Given the description of an element on the screen output the (x, y) to click on. 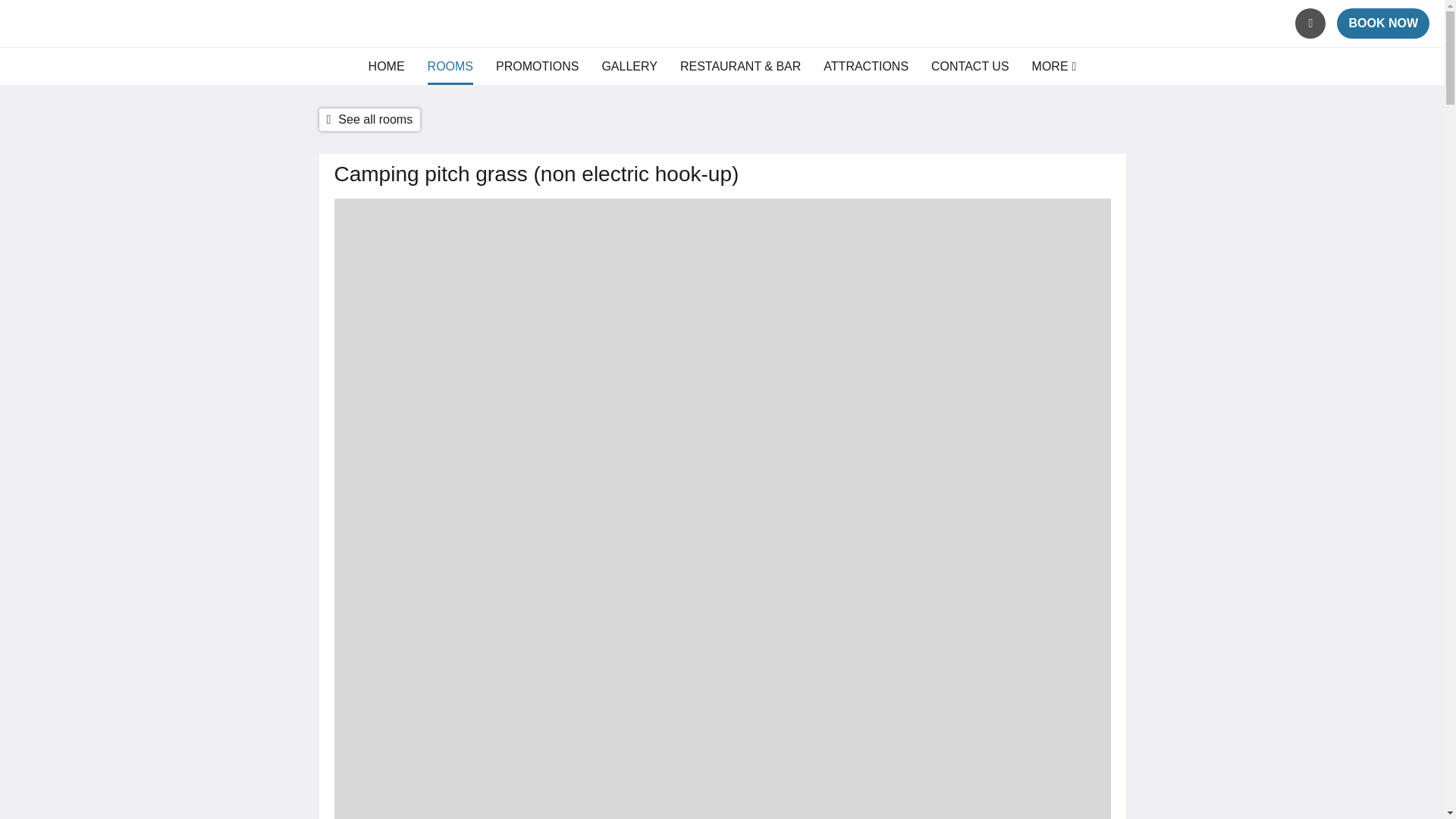
click to zoom-in (721, 812)
GALLERY (629, 66)
MORE (1054, 66)
BOOK NOW (1382, 23)
ATTRACTIONS (866, 66)
PROMOTIONS (537, 66)
CONTACT US (970, 66)
HOME (386, 66)
